Given the description of an element on the screen output the (x, y) to click on. 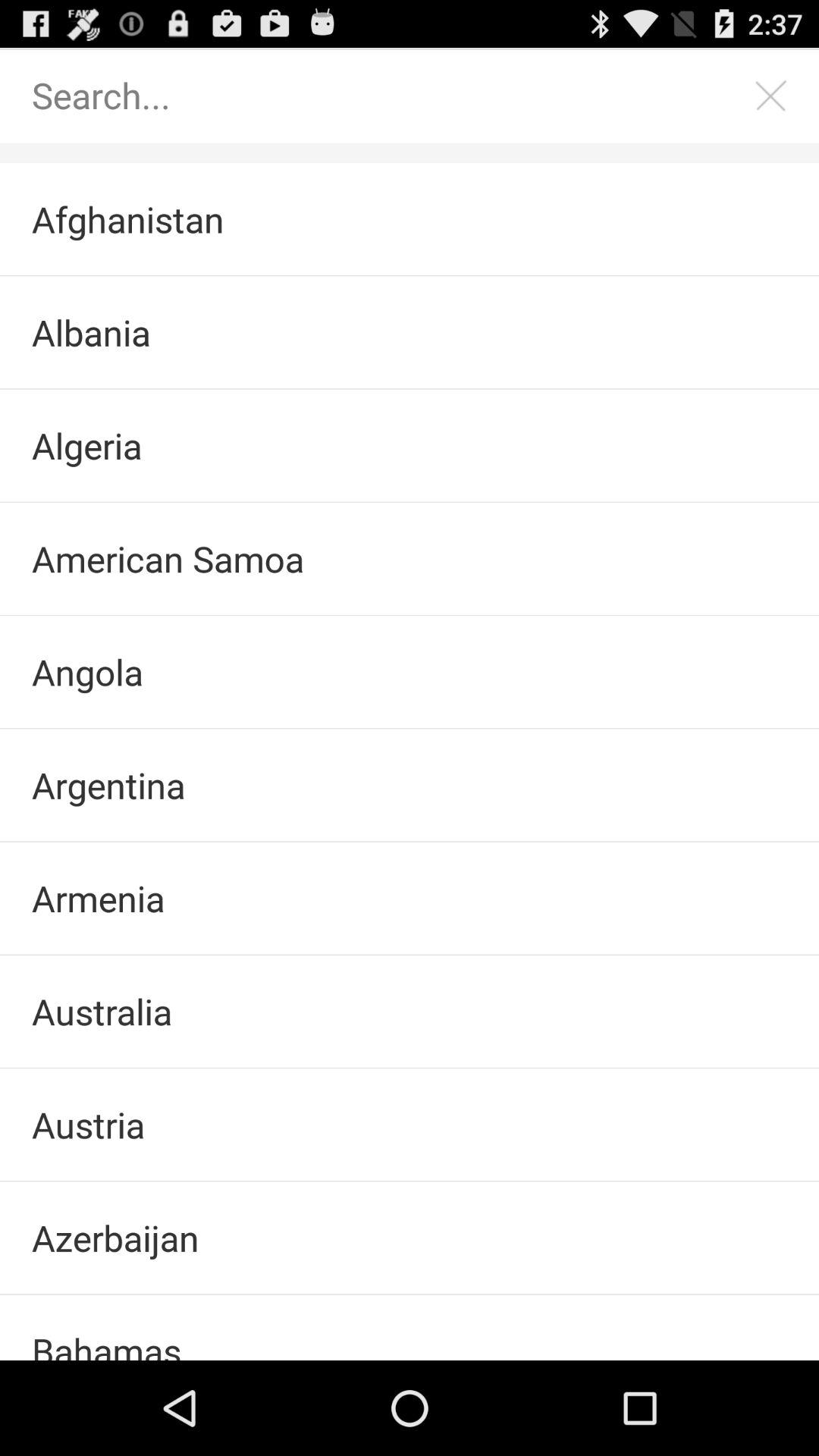
tap the checkbox below afghanistan checkbox (409, 332)
